Given the description of an element on the screen output the (x, y) to click on. 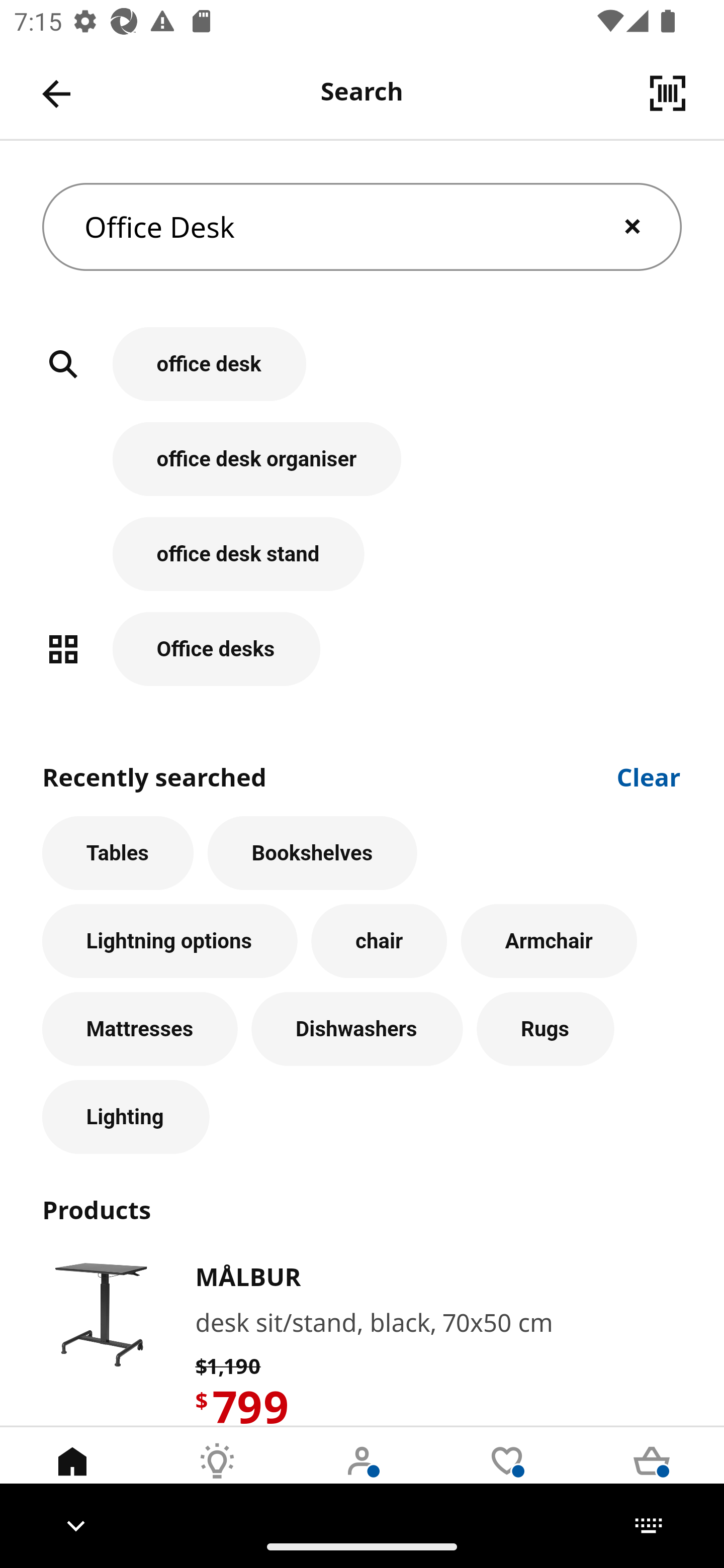
Office Desk (361, 227)
office desk (361, 374)
office desk organiser (361, 469)
office desk stand (361, 564)
Office desks (361, 648)
Clear (649, 774)
Tables (117, 853)
Bookshelves (312, 853)
Lightning options (169, 941)
chair (379, 941)
Armchair (549, 941)
Mattresses (139, 1029)
Dishwashers (357, 1029)
Rugs (545, 1029)
Lighting (125, 1117)
Home
Tab 1 of 5 (72, 1476)
Inspirations
Tab 2 of 5 (216, 1476)
User
Tab 3 of 5 (361, 1476)
Wishlist
Tab 4 of 5 (506, 1476)
Cart
Tab 5 of 5 (651, 1476)
